Given the description of an element on the screen output the (x, y) to click on. 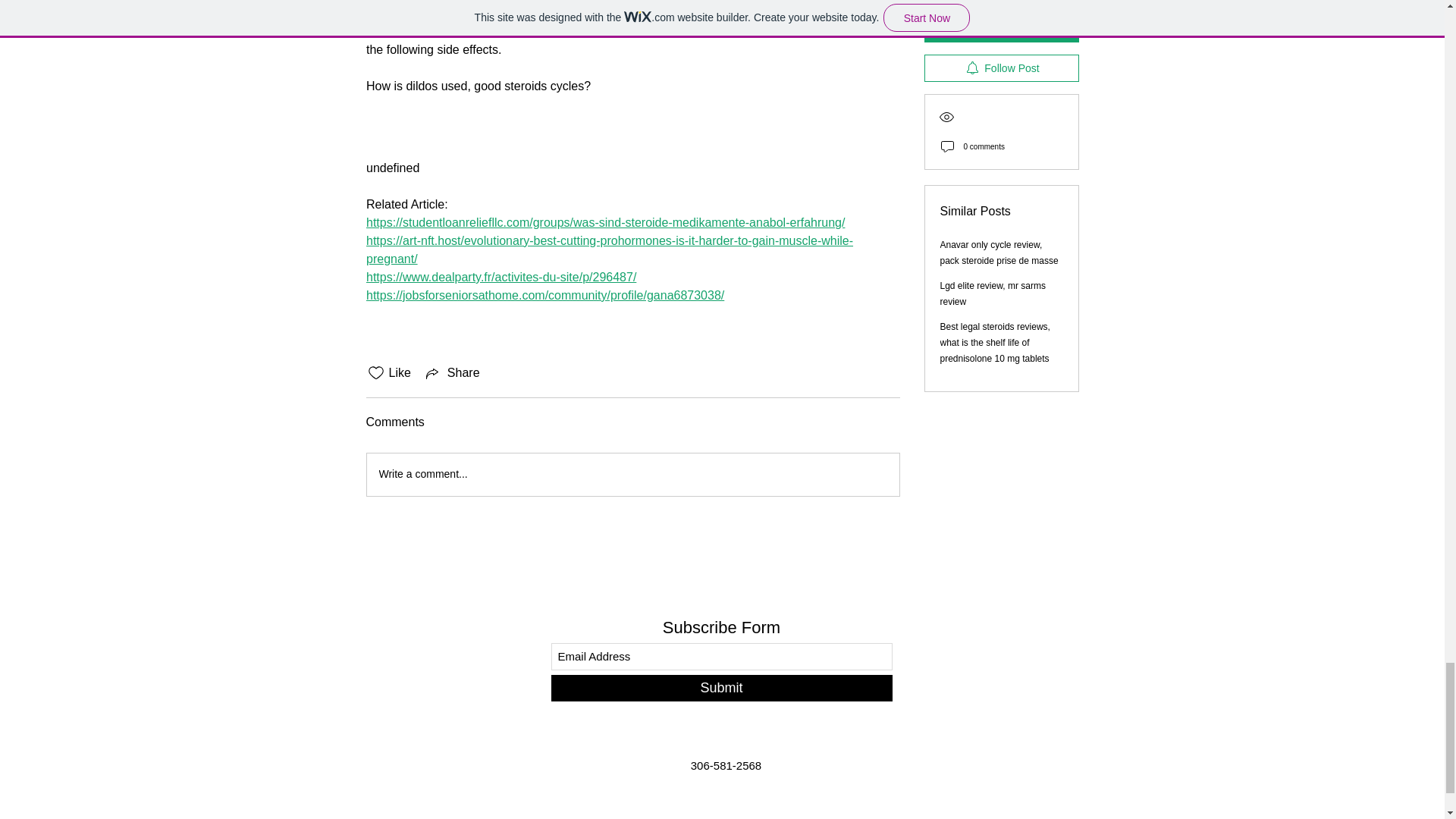
Share (451, 372)
Submit (720, 687)
Write a comment... (632, 474)
